Given the description of an element on the screen output the (x, y) to click on. 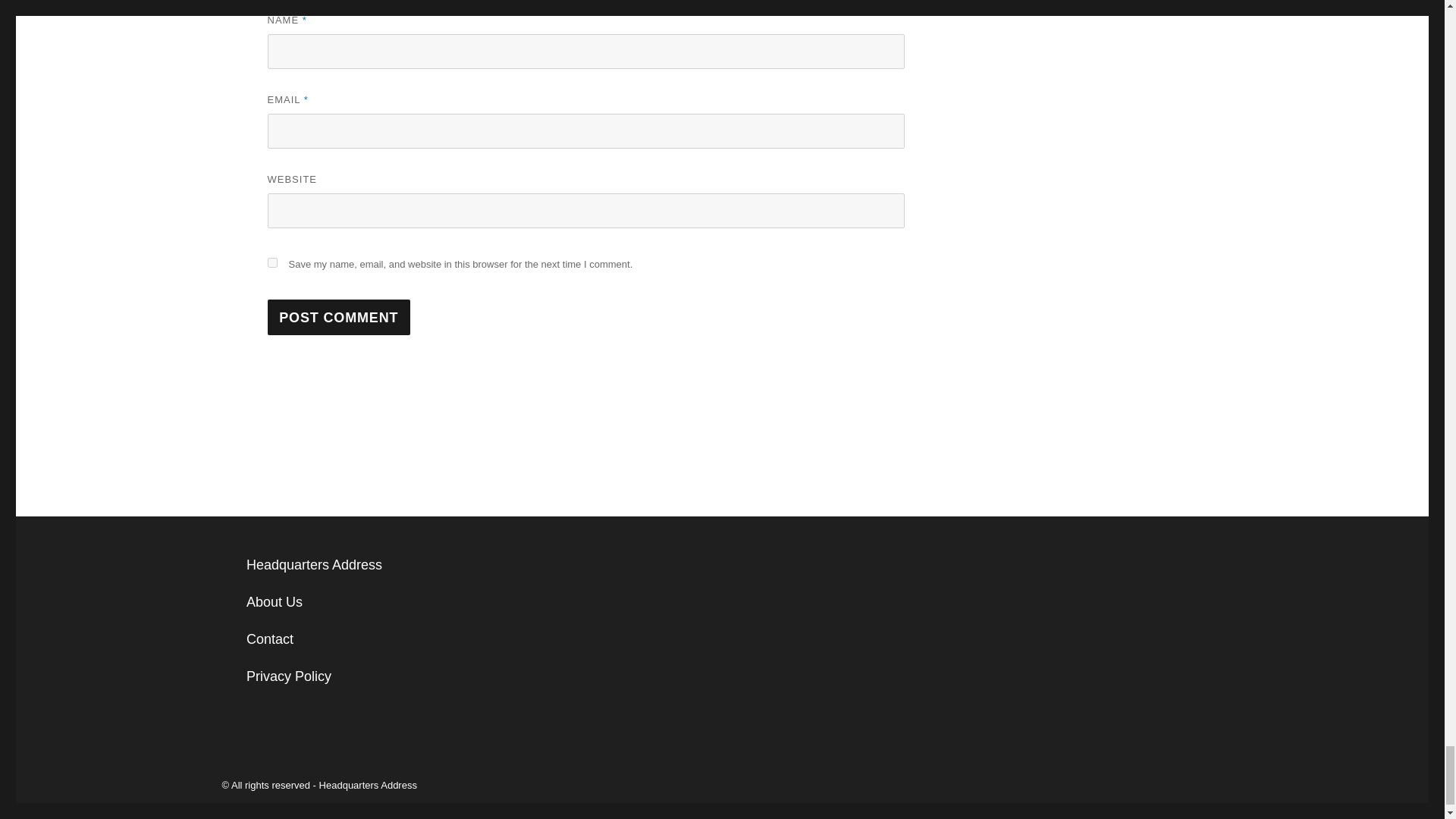
yes (271, 262)
Post Comment (338, 316)
Post Comment (338, 316)
